Given the description of an element on the screen output the (x, y) to click on. 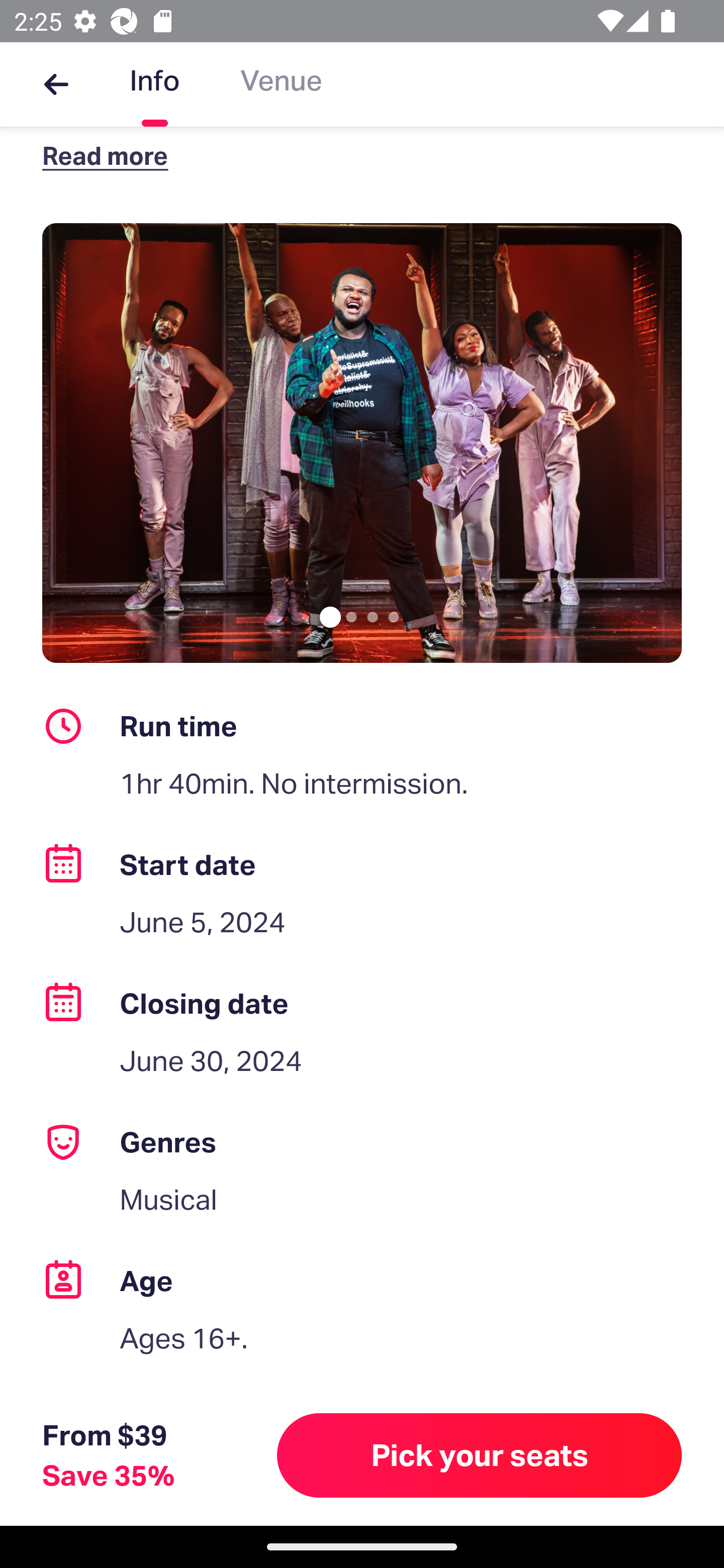
Venue (280, 84)
Read more (109, 155)
Pick your seats (479, 1454)
